Given the description of an element on the screen output the (x, y) to click on. 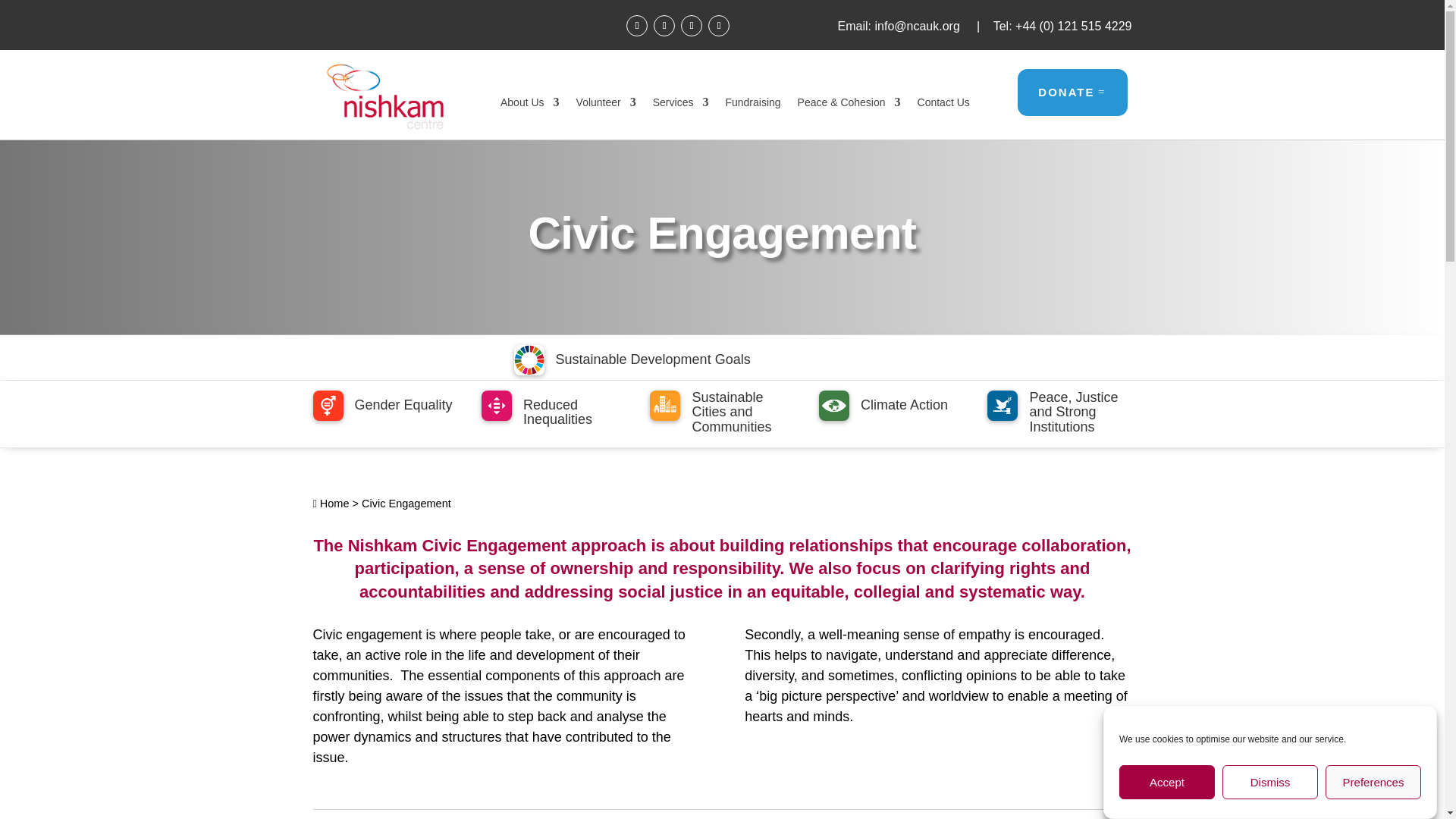
Follow on Instagram (691, 25)
About Us (529, 105)
Volunteer (606, 105)
about-us (529, 105)
Follow on LinkedIn (718, 25)
Services (680, 105)
Untitled-1 (385, 92)
Follow on Facebook (636, 25)
Follow on Twitter (664, 25)
